Given the description of an element on the screen output the (x, y) to click on. 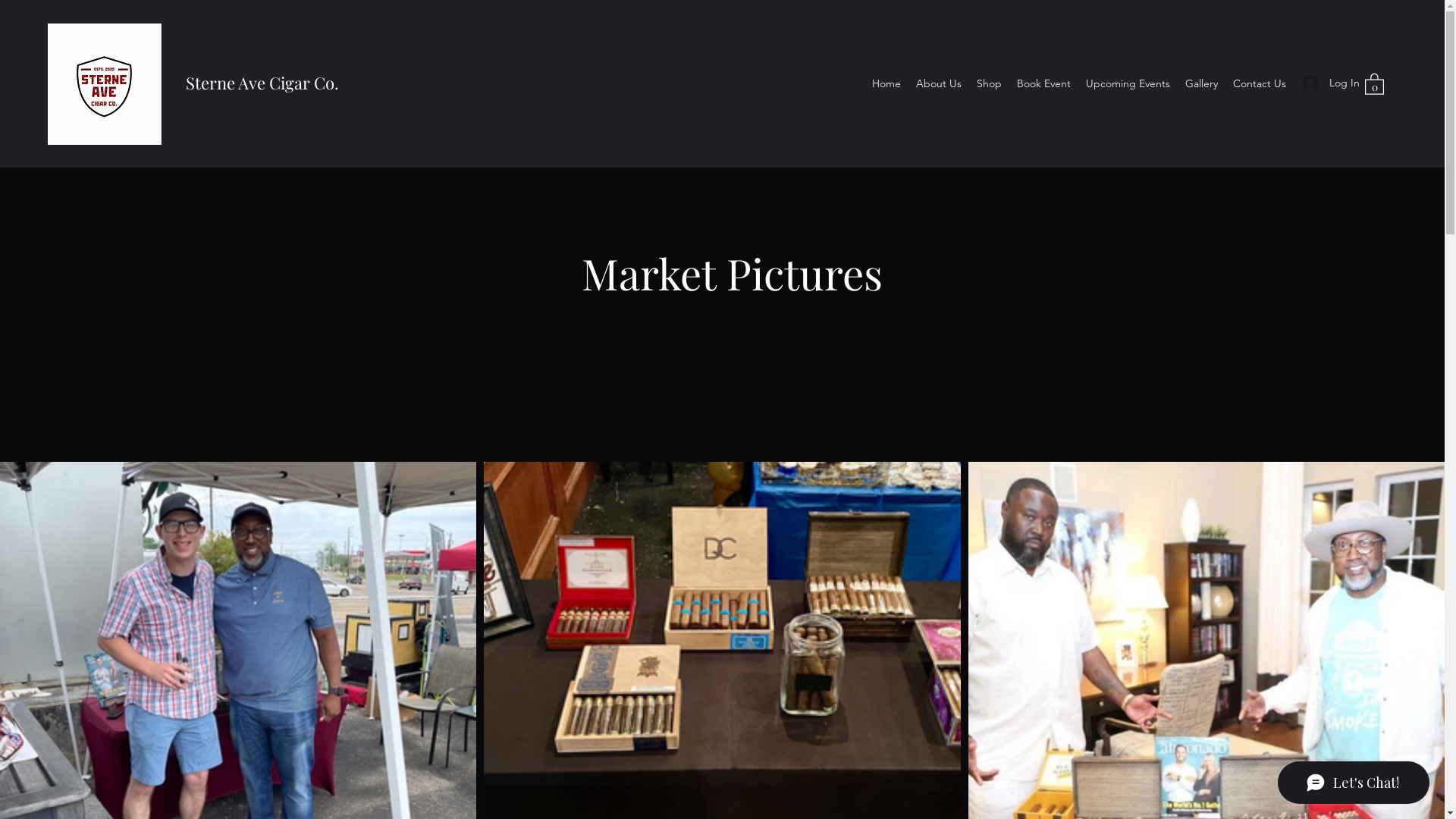
Shop Element type: text (989, 83)
0 Element type: text (1374, 83)
Sterne Ave Cigar Co. Element type: text (261, 82)
Book Event Element type: text (1043, 83)
Home Element type: text (886, 83)
Contact Us Element type: text (1259, 83)
About Us Element type: text (938, 83)
Log In Element type: text (1325, 83)
Upcoming Events Element type: text (1127, 83)
Gallery Element type: text (1201, 83)
